Given the description of an element on the screen output the (x, y) to click on. 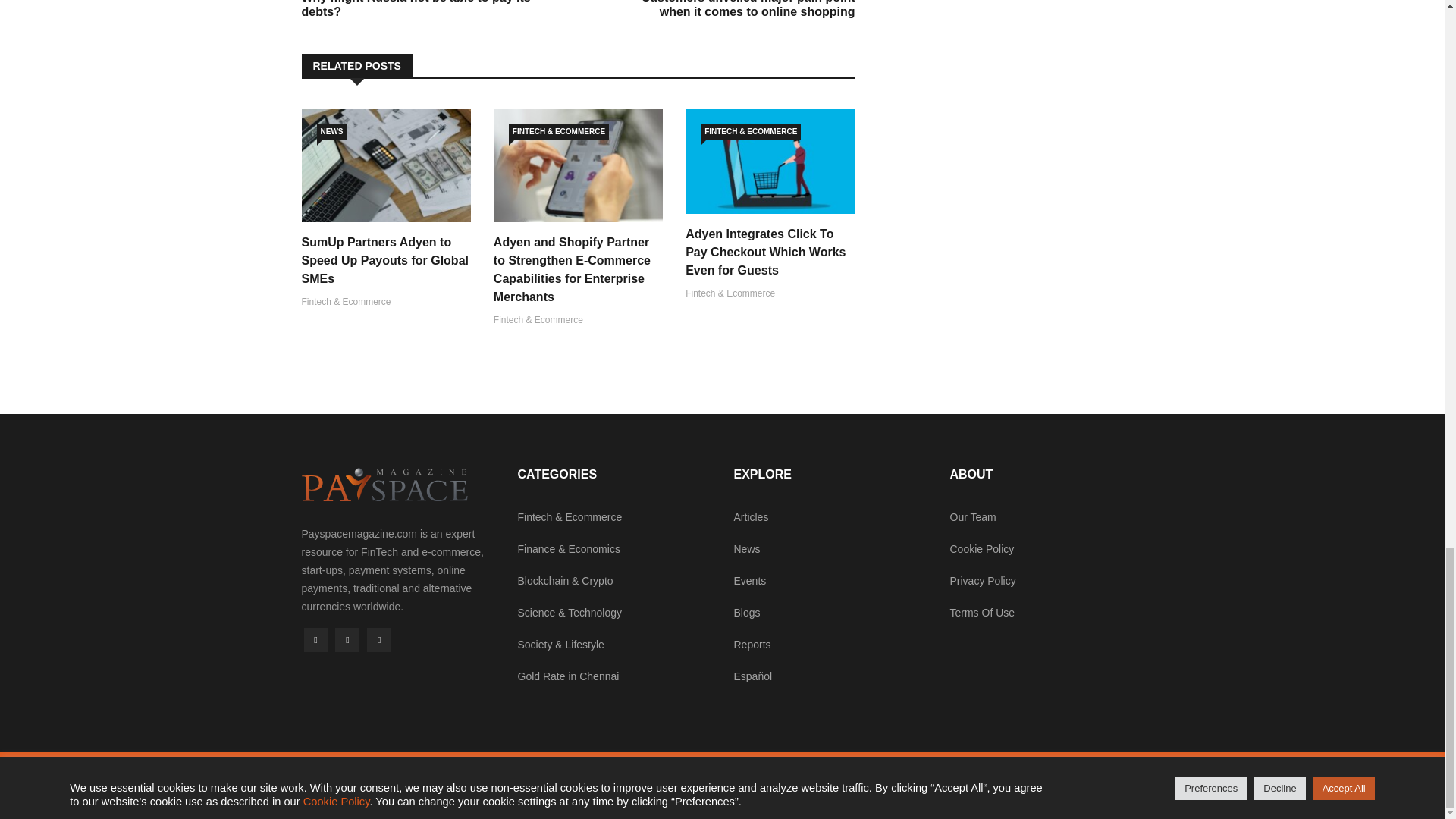
SumUp Partners Adyen to Speed Up Payouts for Global SMEs (424, 9)
NEWS (384, 260)
Twitter (332, 131)
RSS (346, 639)
Facebook (378, 639)
